Given the description of an element on the screen output the (x, y) to click on. 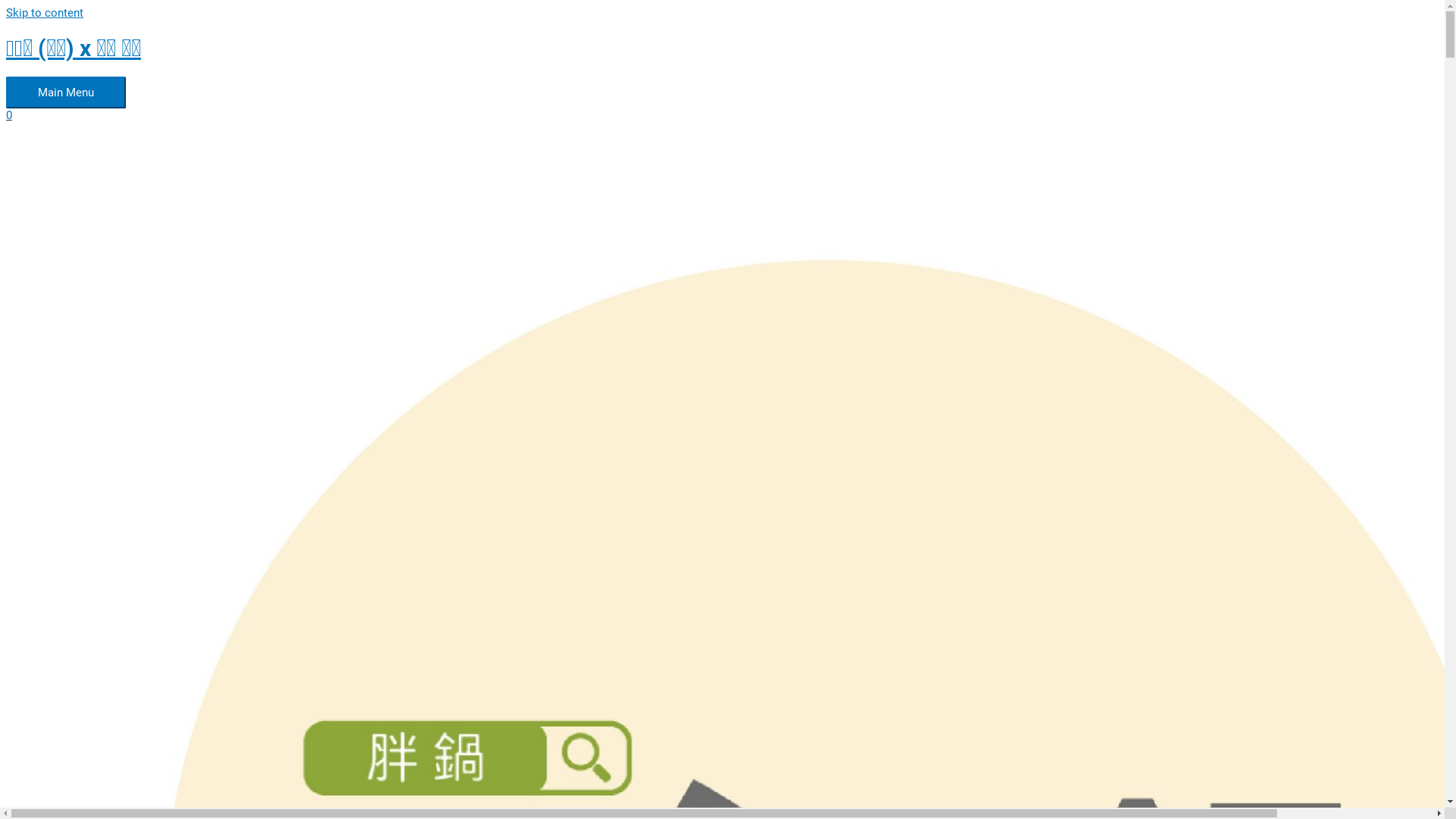
Main Menu Element type: text (65, 92)
0 Element type: text (476, 115)
Skip to content Element type: text (44, 12)
